Given the description of an element on the screen output the (x, y) to click on. 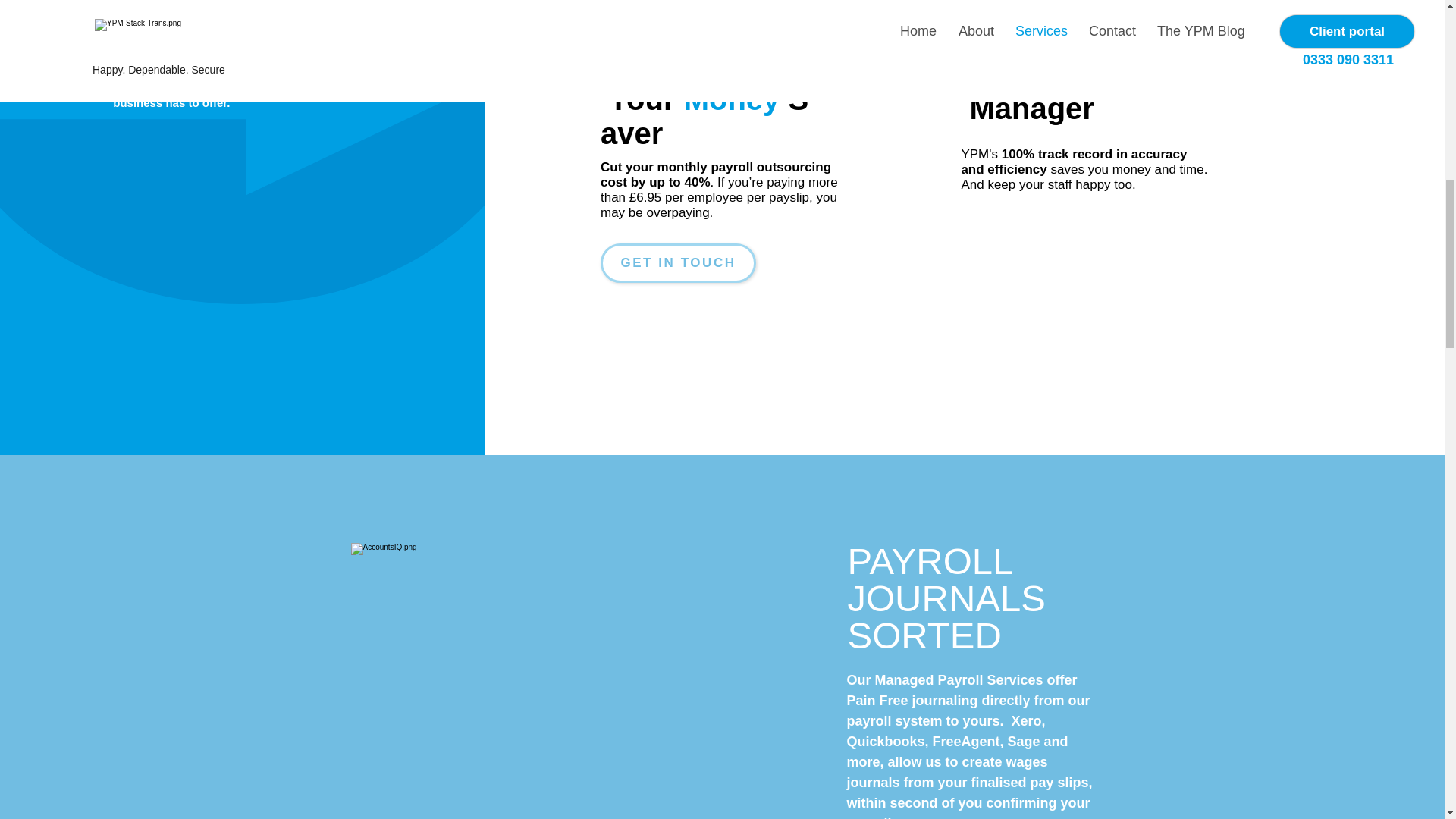
GET IN TOUCH (677, 262)
